Given the description of an element on the screen output the (x, y) to click on. 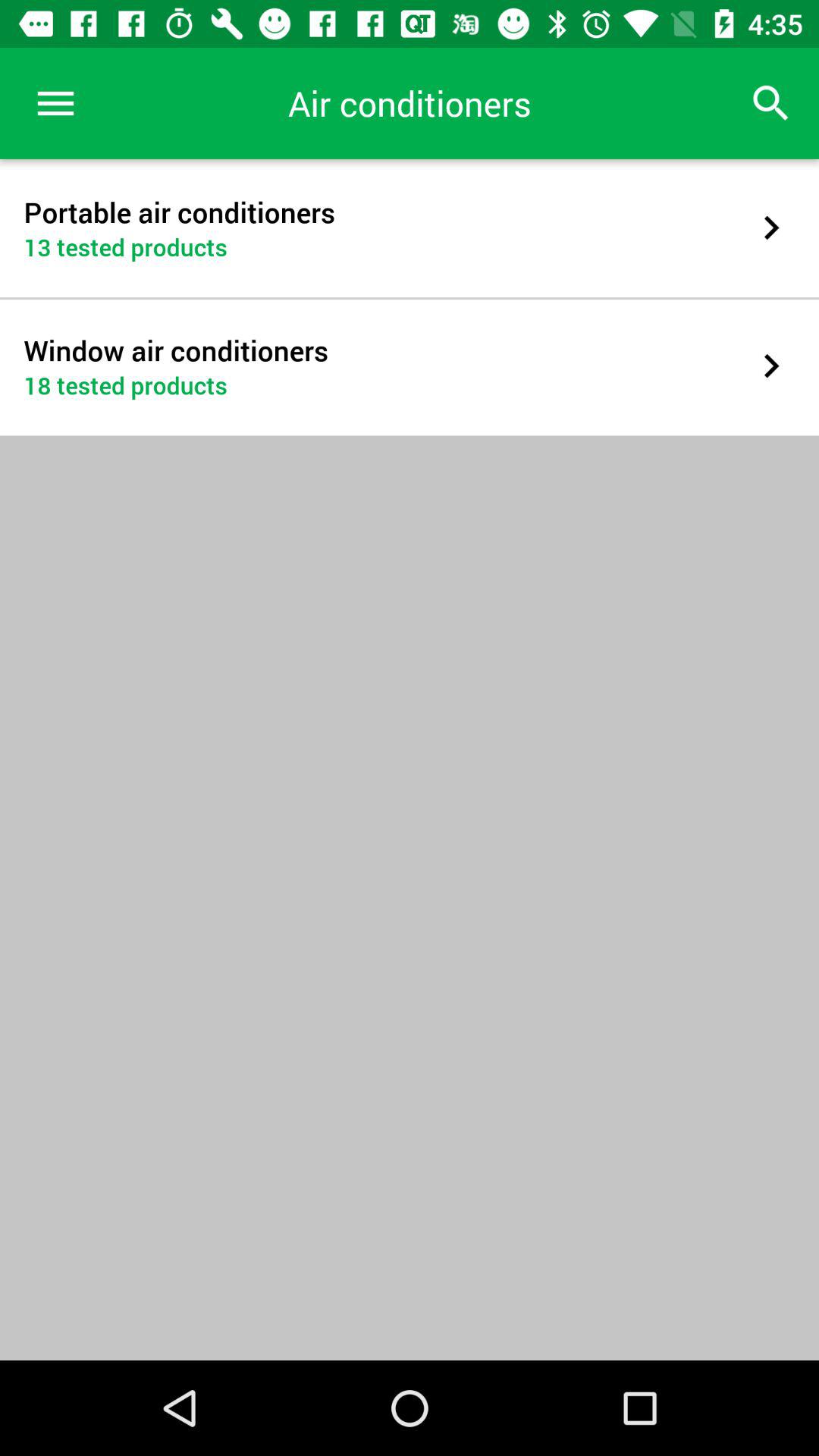
turn off icon to the left of air conditioners icon (55, 103)
